Given the description of an element on the screen output the (x, y) to click on. 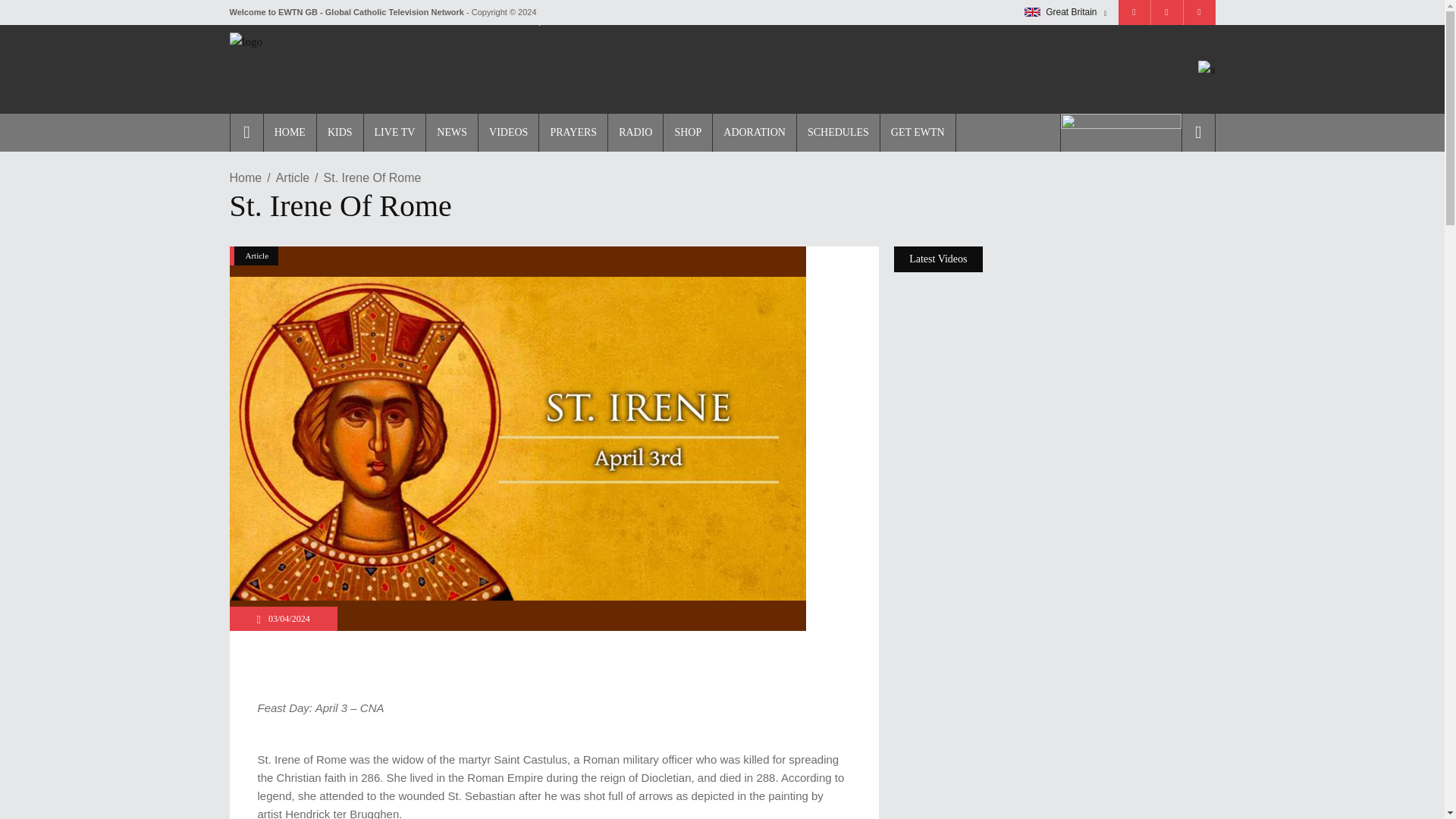
SCHEDULES (837, 132)
KIDS (338, 132)
PRAYERS (572, 132)
LIVE TV (394, 132)
ADORATION (753, 132)
RADIO (634, 132)
NEWS (451, 132)
SHOP (686, 132)
VIDEOS (507, 132)
  Great Britain (1065, 12)
HOME (289, 132)
GET EWTN (917, 132)
Great Britain (1033, 11)
